Given the description of an element on the screen output the (x, y) to click on. 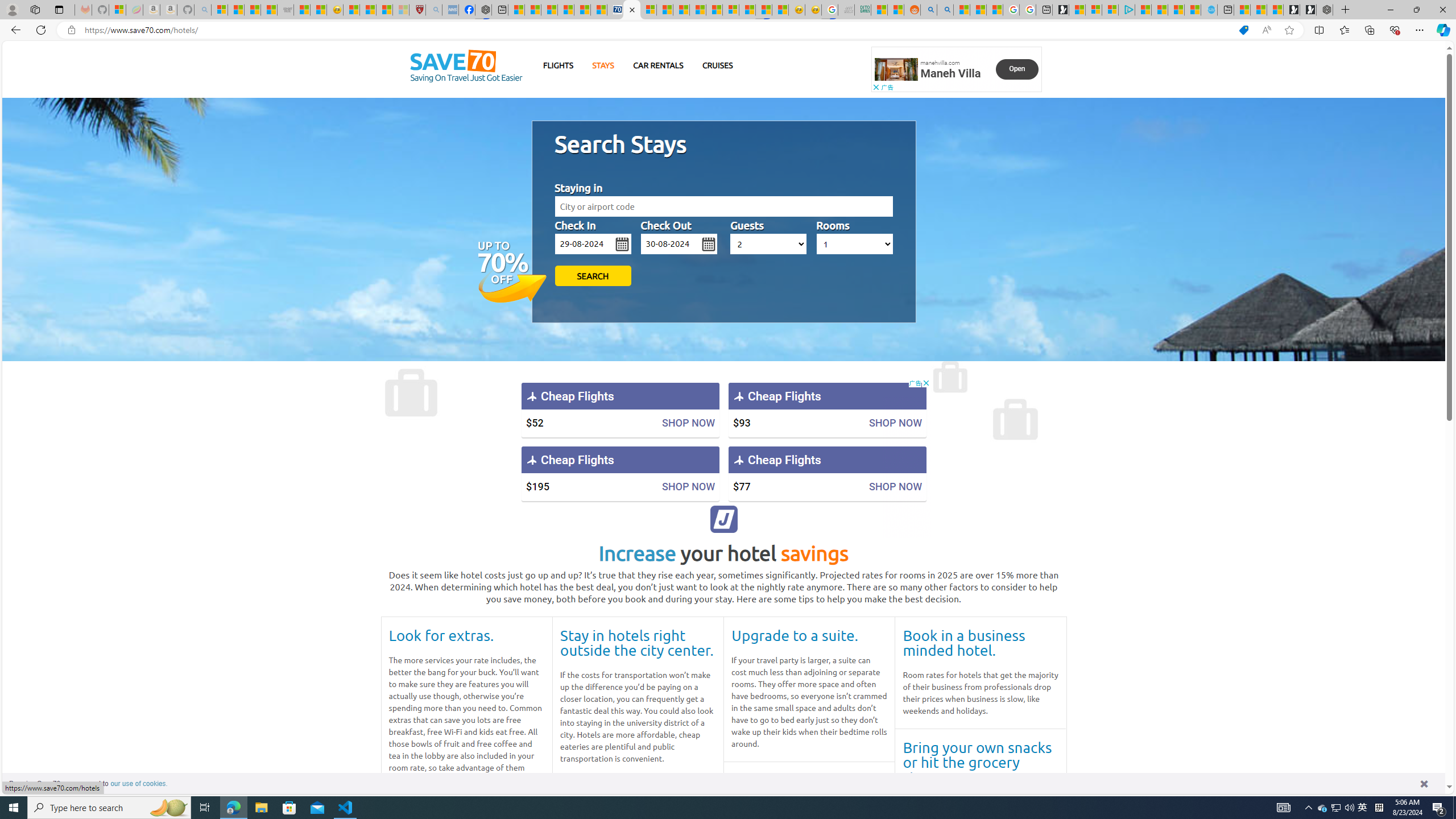
AutomationID: cbb (925, 382)
Class: ns-aianb-e-47 svg-anchor (724, 519)
STAYS (603, 65)
Class: ns-pn6gp-e-2 svg-anchor text-button-final (1016, 68)
